Given the description of an element on the screen output the (x, y) to click on. 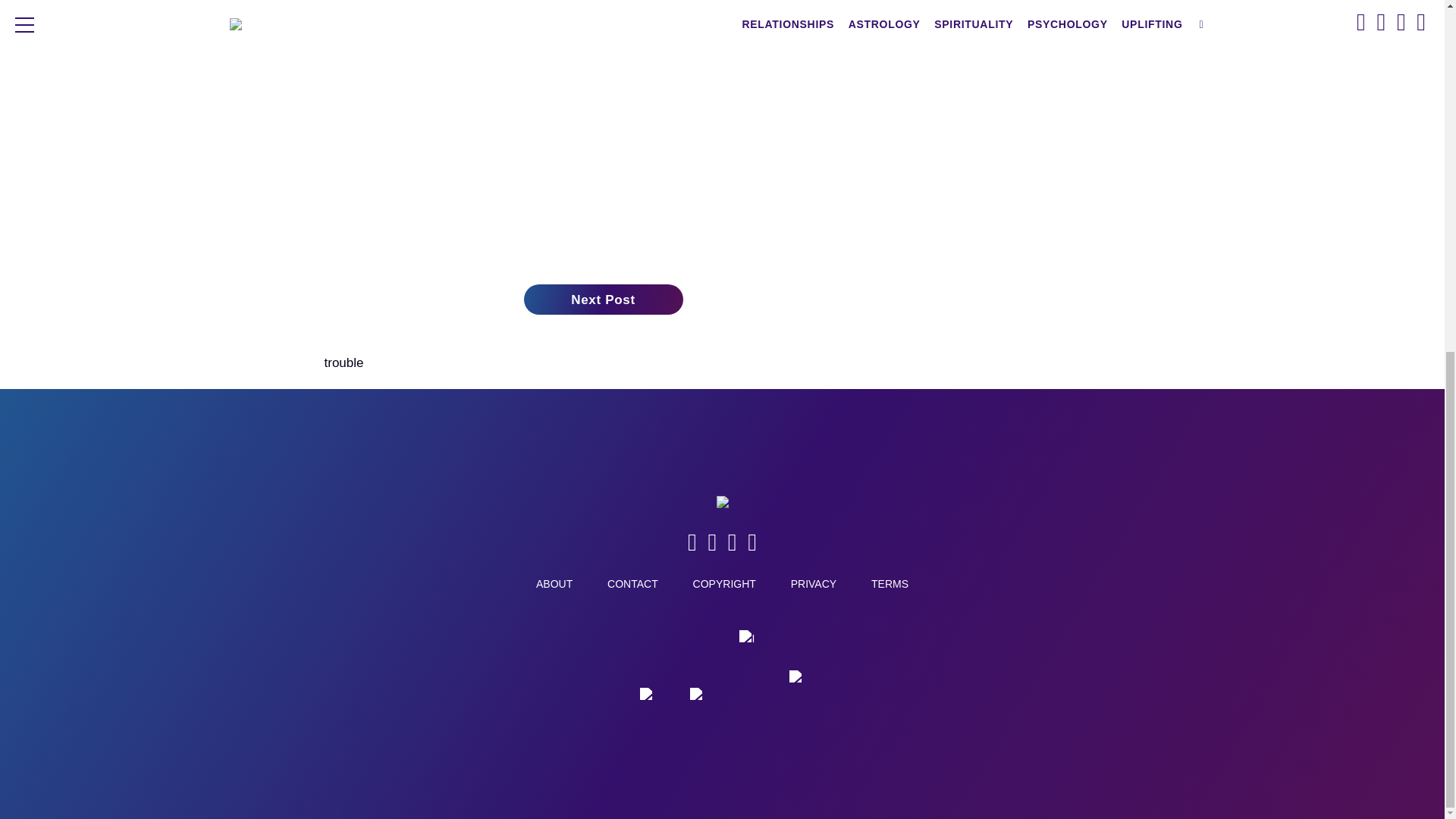
trouble (344, 362)
Next Post (602, 299)
Decoist (647, 702)
ManMadeDIY (697, 702)
